Given the description of an element on the screen output the (x, y) to click on. 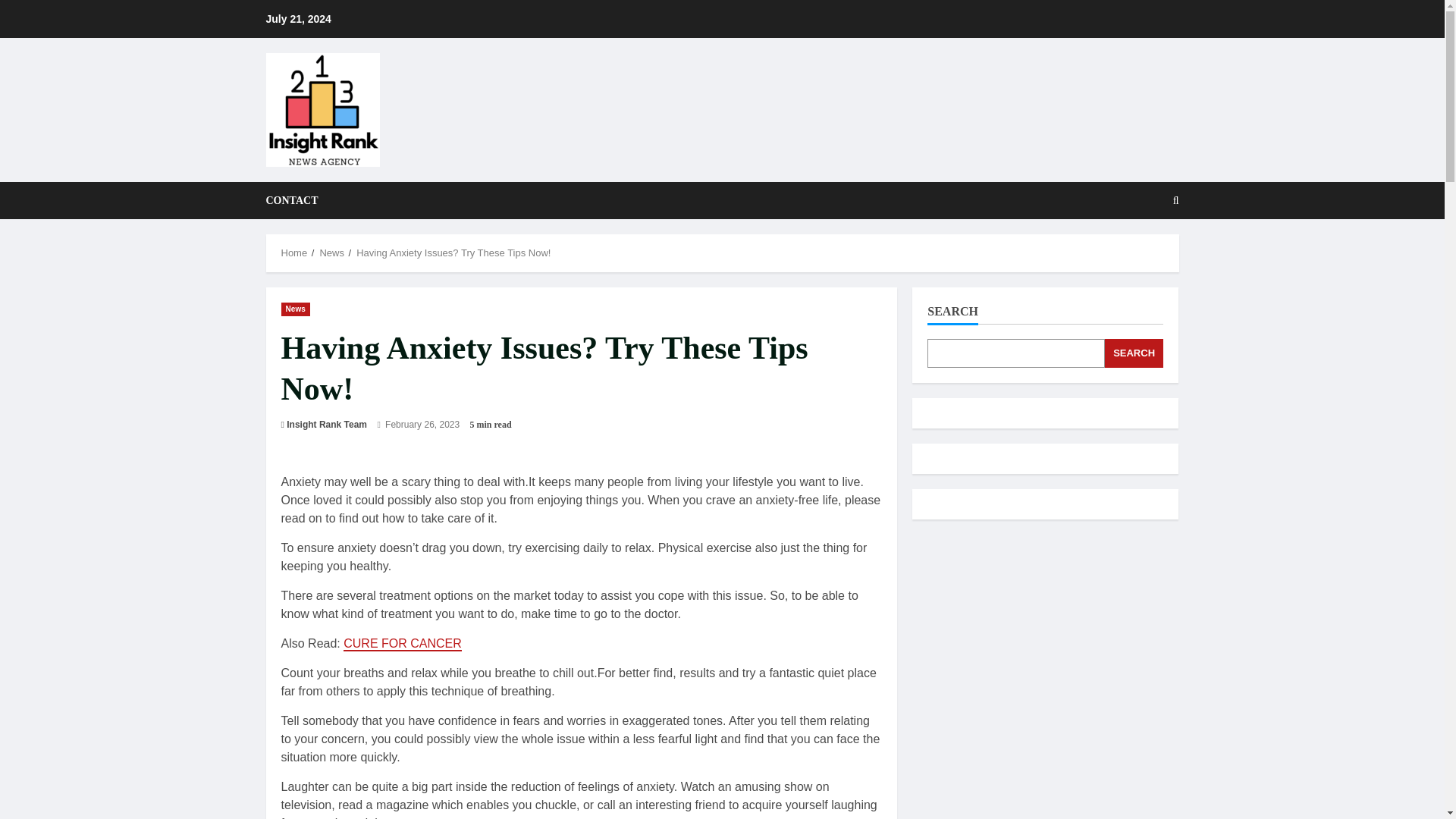
SEARCH (1134, 353)
Insight Rank Team (326, 424)
News (295, 308)
CURE FOR CANCER (402, 644)
Home (294, 252)
Having Anxiety Issues? Try These Tips Now! (453, 252)
CONTACT (290, 200)
News (330, 252)
Search (1139, 252)
